Given the description of an element on the screen output the (x, y) to click on. 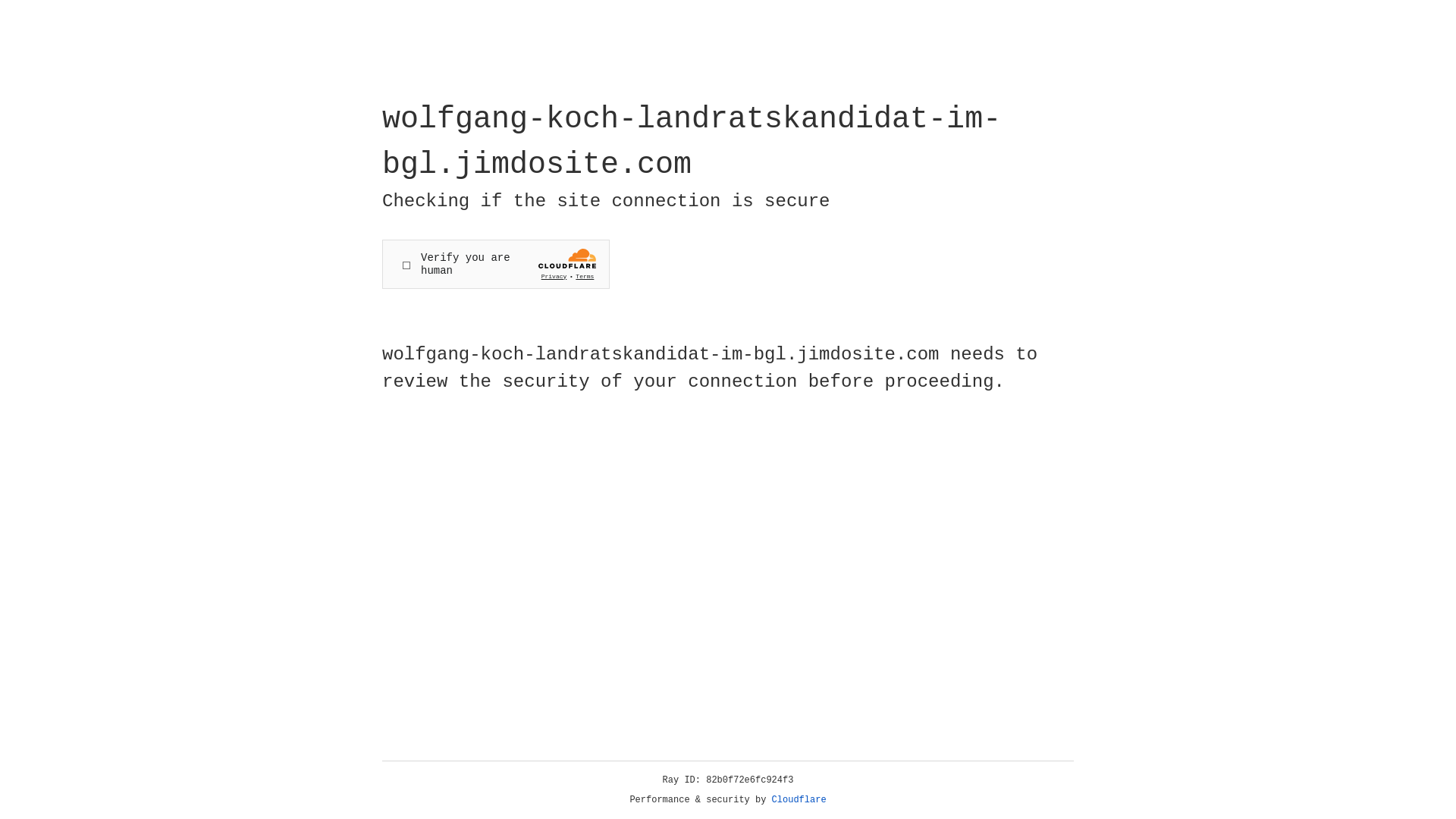
Widget containing a Cloudflare security challenge Element type: hover (495, 263)
Cloudflare Element type: text (798, 799)
